Given the description of an element on the screen output the (x, y) to click on. 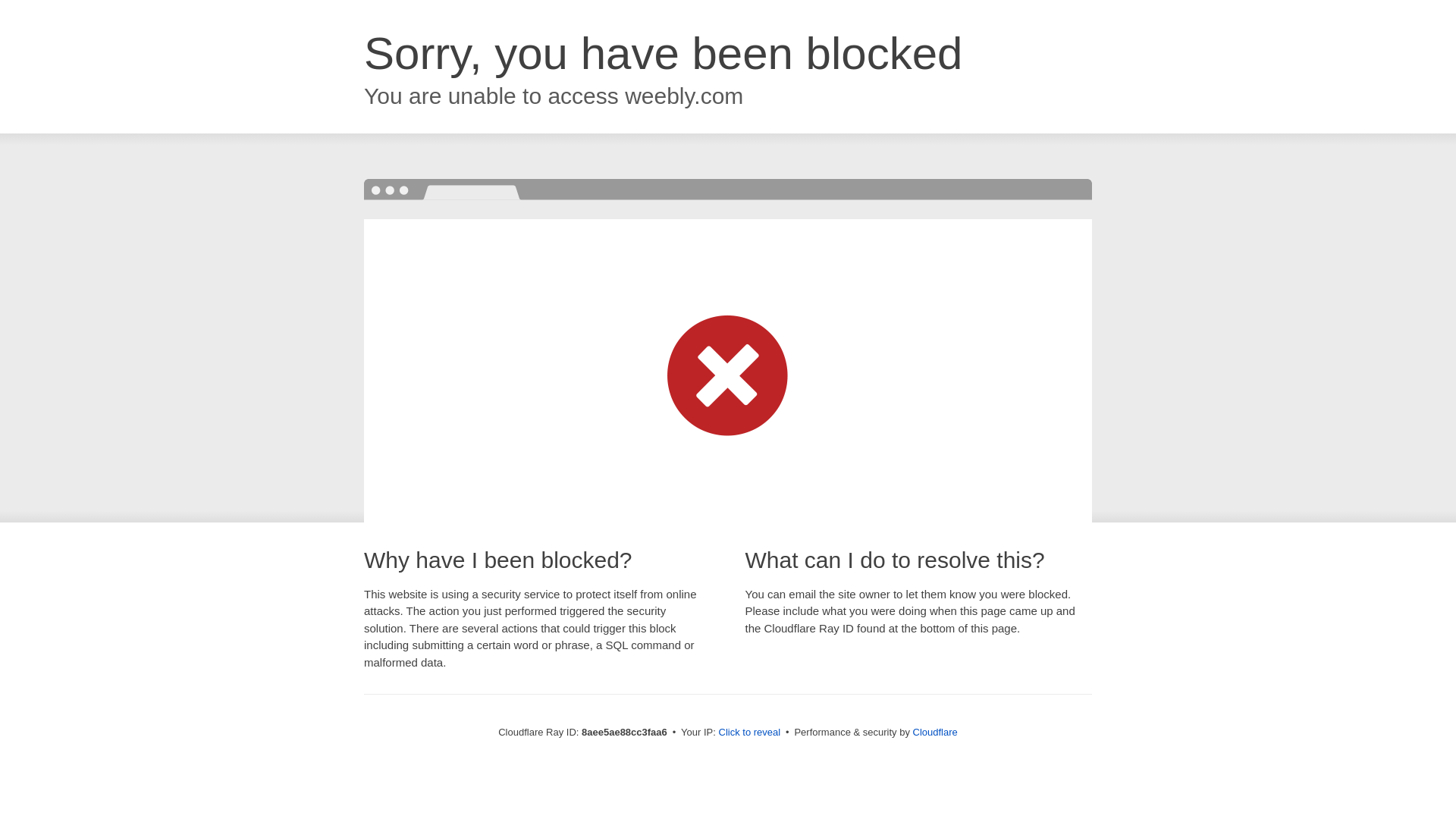
Cloudflare (935, 731)
Click to reveal (749, 732)
